Given the description of an element on the screen output the (x, y) to click on. 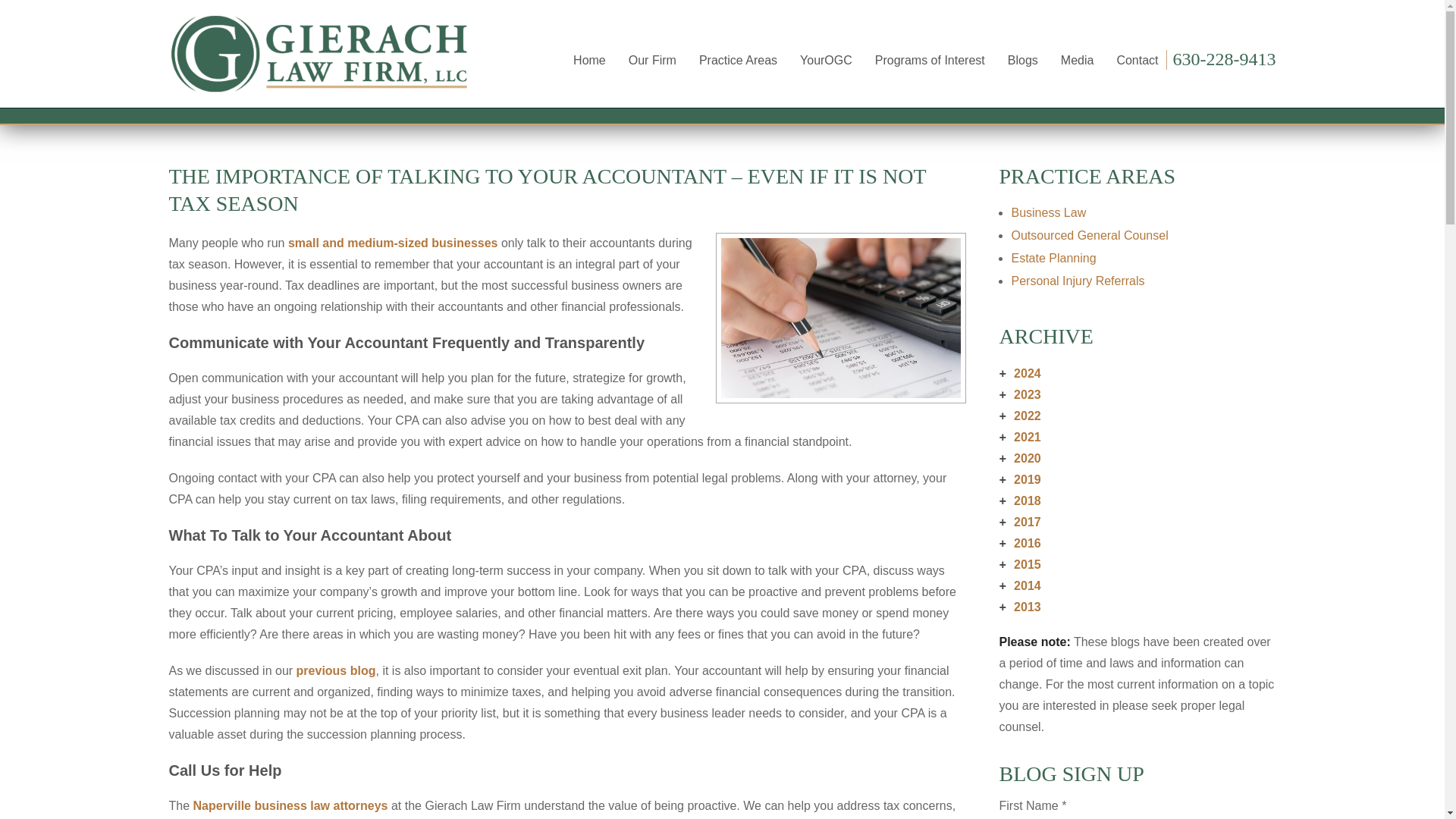
Home (589, 60)
Practice Areas (737, 60)
Our Firm (652, 60)
